Given the description of an element on the screen output the (x, y) to click on. 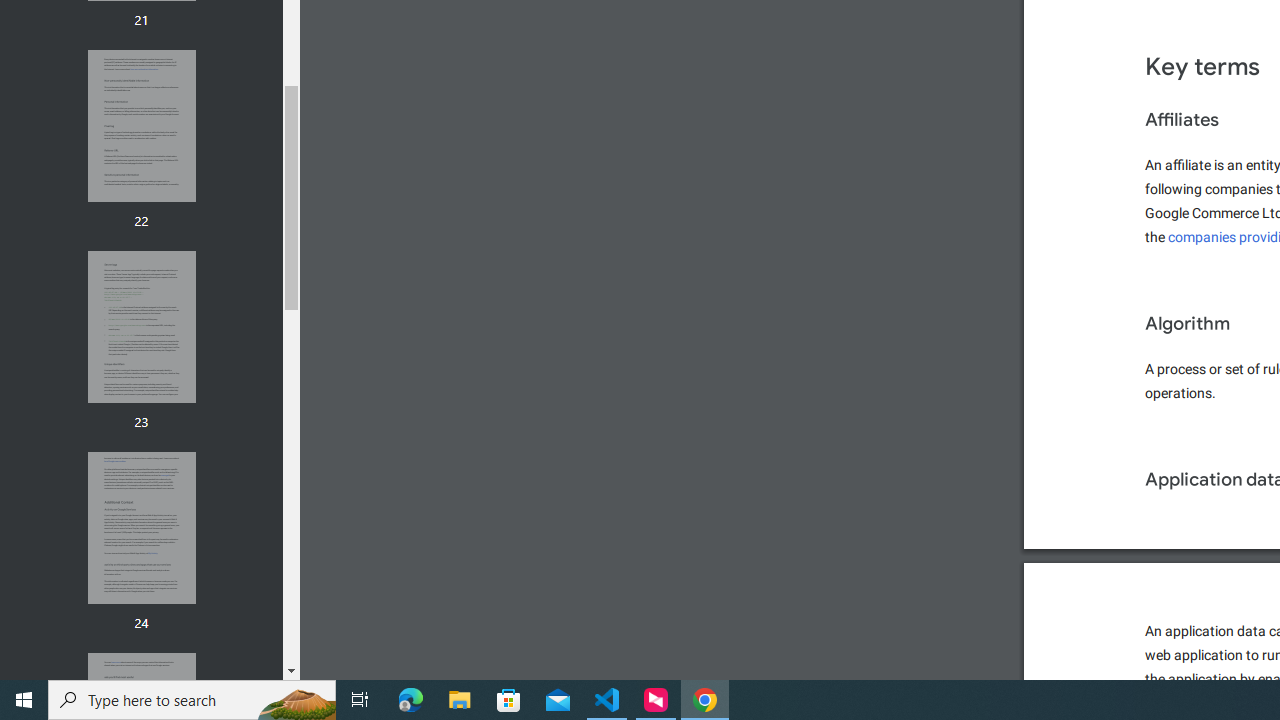
Thumbnail for page 24 (141, 528)
Thumbnail for page 22 (141, 125)
Thumbnail for page 23 (141, 326)
AutomationID: thumbnail (141, 528)
